Given the description of an element on the screen output the (x, y) to click on. 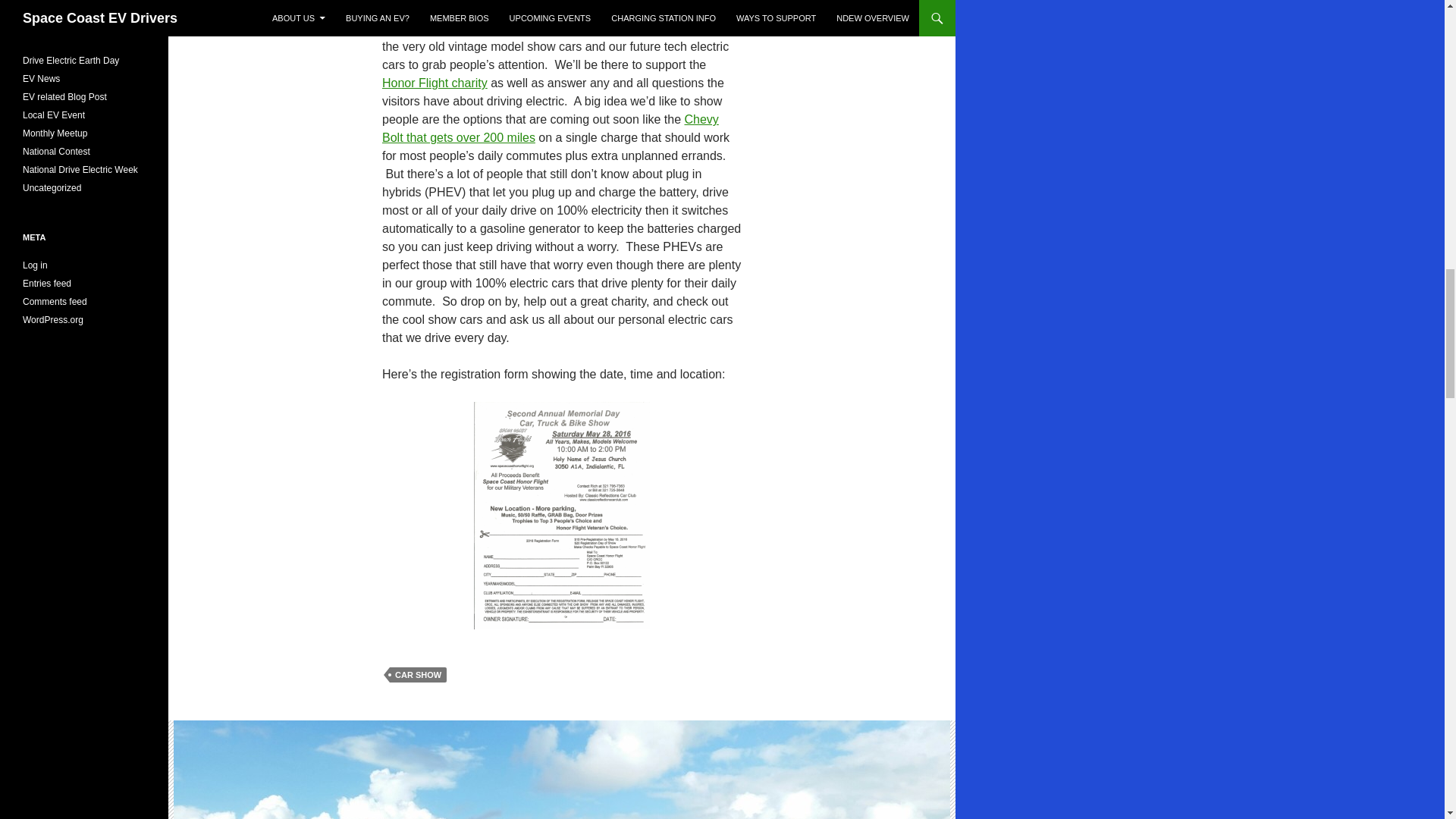
CAR SHOW (418, 674)
Chevy Bolt that gets over 200 miles (550, 128)
Honor Flight charity (434, 82)
